Given the description of an element on the screen output the (x, y) to click on. 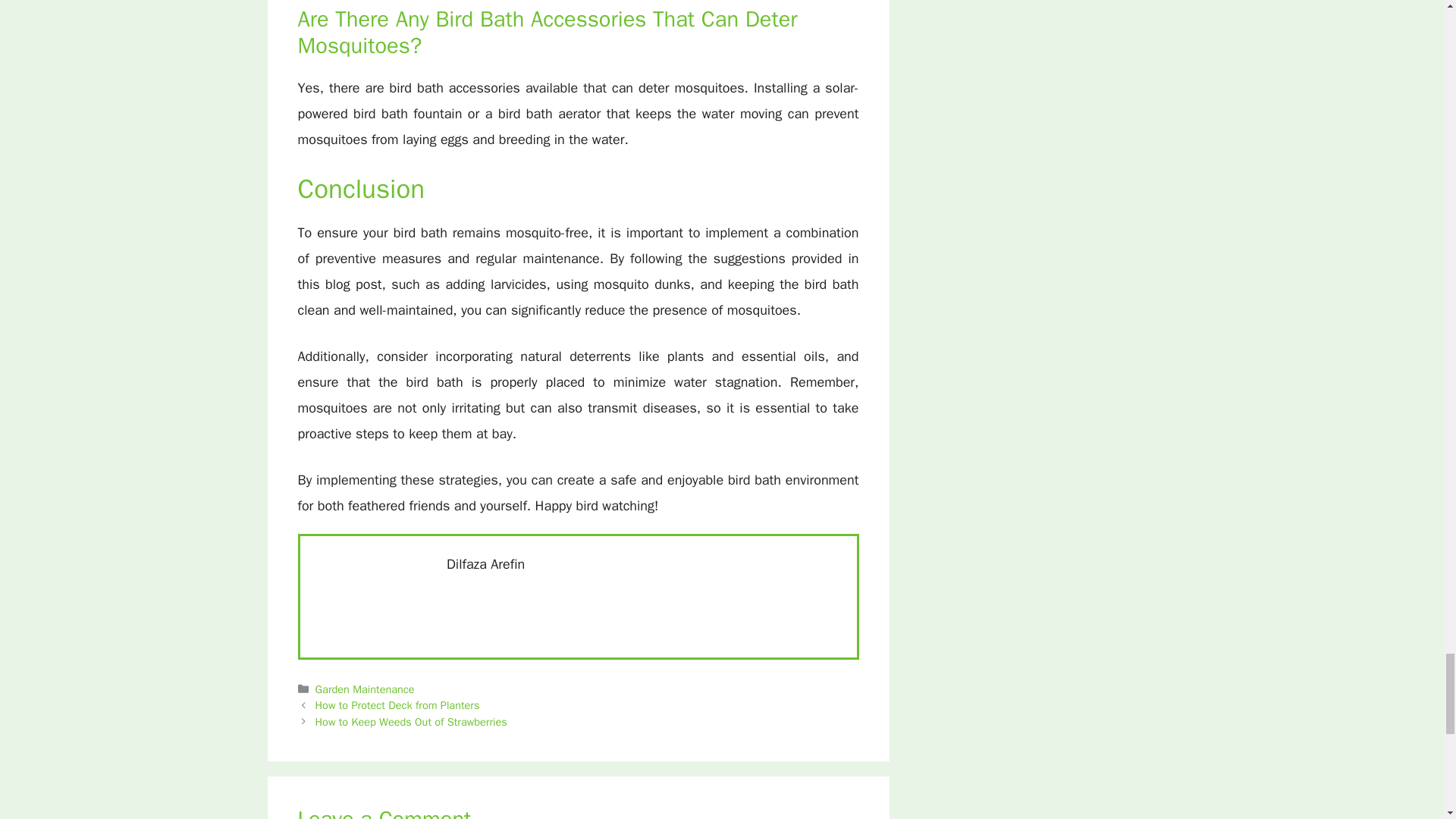
How to Protect Deck from Planters (397, 704)
How to Keep Weeds Out of Strawberries (410, 721)
Garden Maintenance (364, 689)
